Given the description of an element on the screen output the (x, y) to click on. 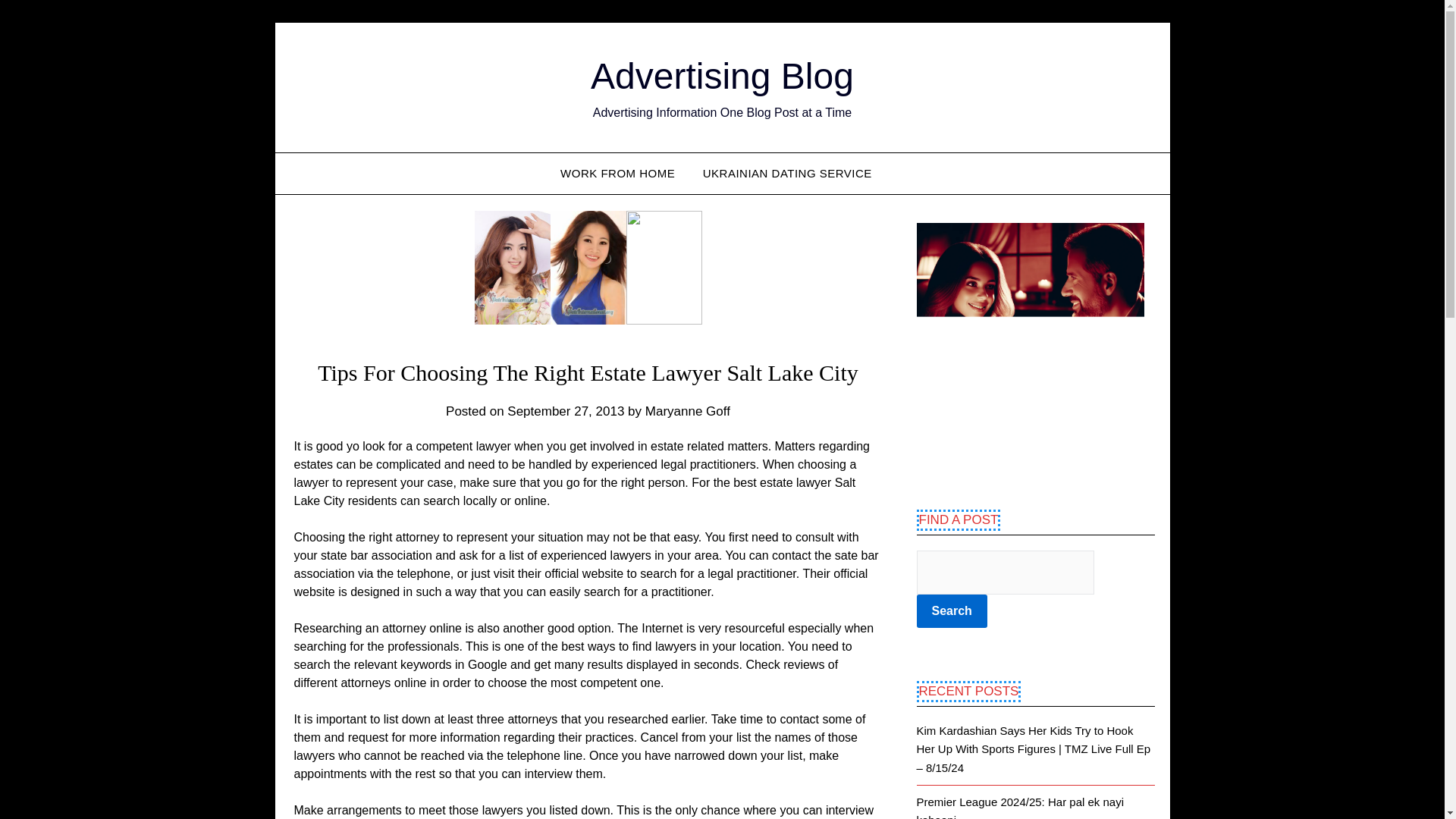
UKRAINIAN DATING SERVICE (786, 173)
WORK FROM HOME (623, 173)
Maryanne Goff (687, 411)
Search (951, 611)
Search (951, 611)
Advertising Blog (722, 76)
September 27, 2013 (565, 411)
